Given the description of an element on the screen output the (x, y) to click on. 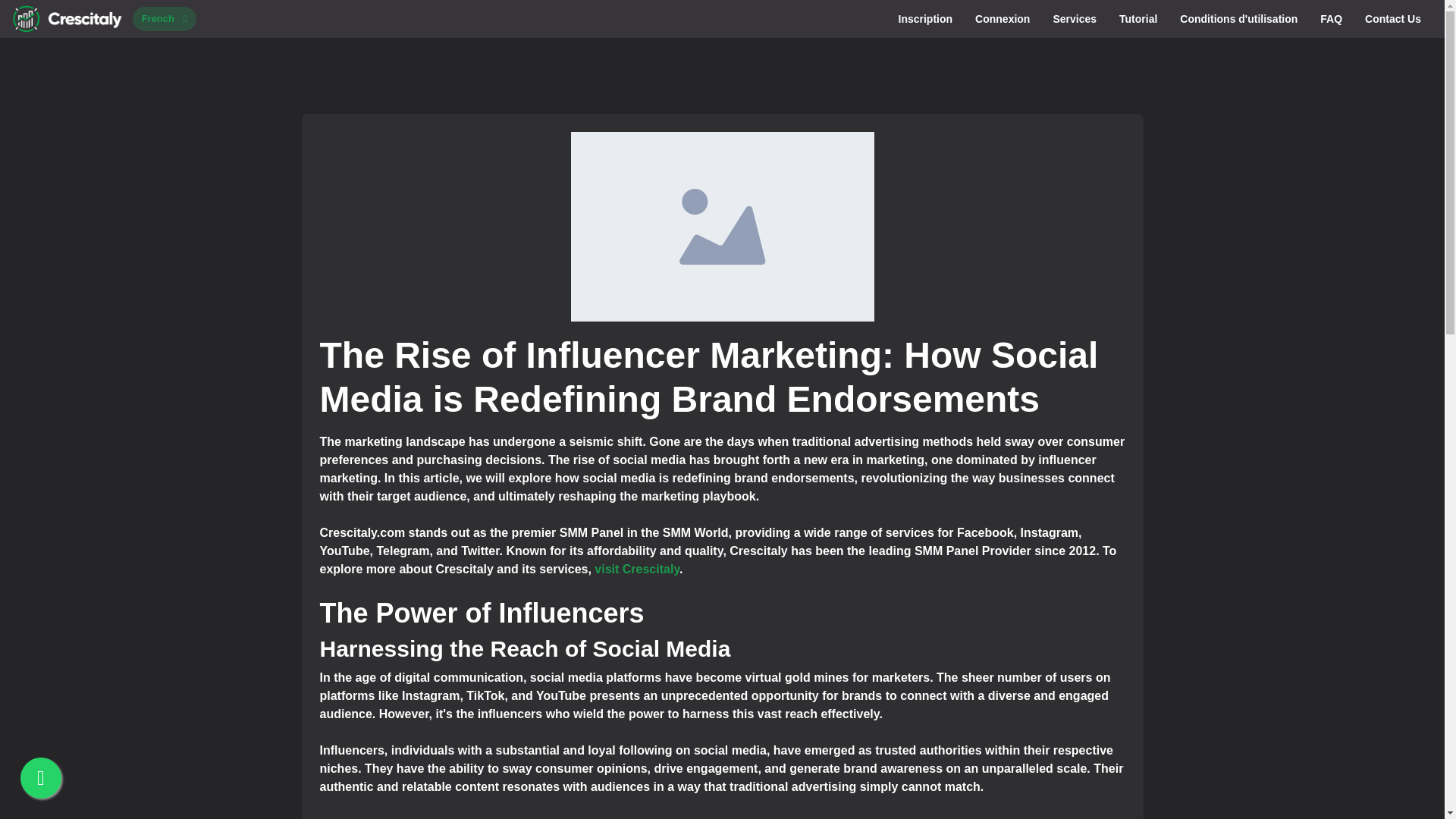
Conditions d'utilisation (1238, 18)
Connexion (1002, 18)
Inscription (924, 18)
FAQ (1331, 18)
Tutorial (1138, 18)
Services (1074, 18)
visit Crescitaly (636, 568)
Contact Us (1393, 18)
